Given the description of an element on the screen output the (x, y) to click on. 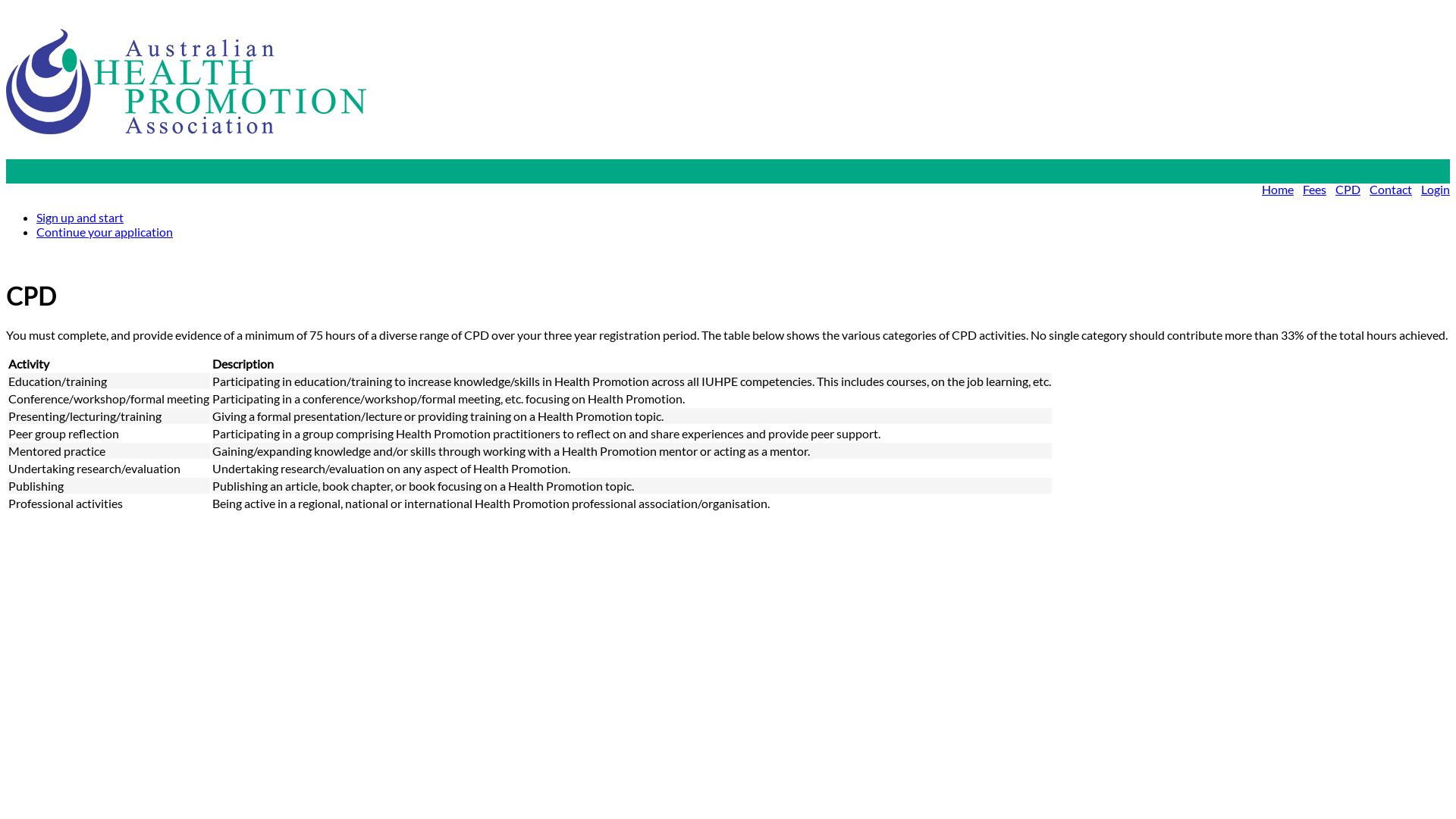
Login Element type: text (1435, 189)
Fees Element type: text (1314, 189)
Continue your application Element type: text (104, 231)
Sign up and start Element type: text (79, 217)
CPD Element type: text (1347, 189)
Contact Element type: text (1390, 189)
Home Element type: text (1277, 189)
